Given the description of an element on the screen output the (x, y) to click on. 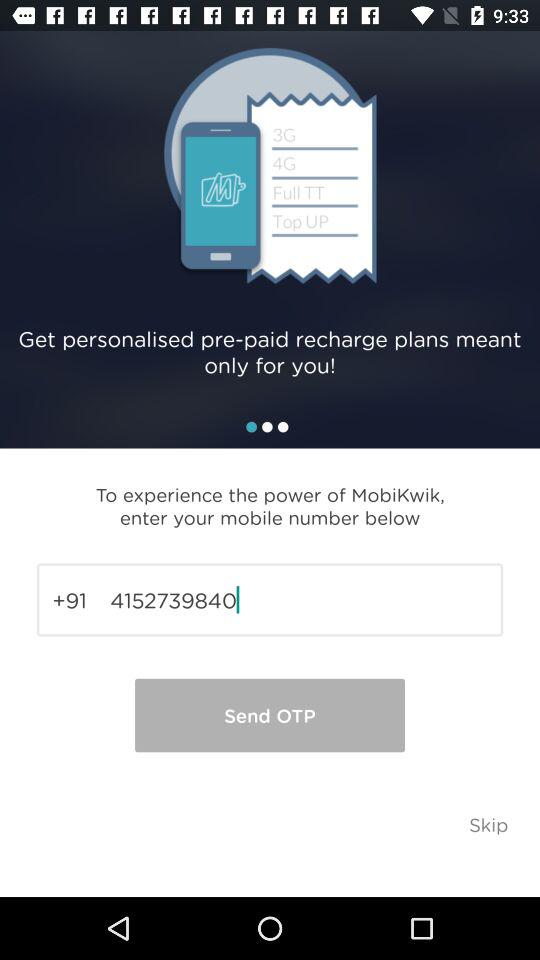
click icon below 4152739840 (270, 715)
